Given the description of an element on the screen output the (x, y) to click on. 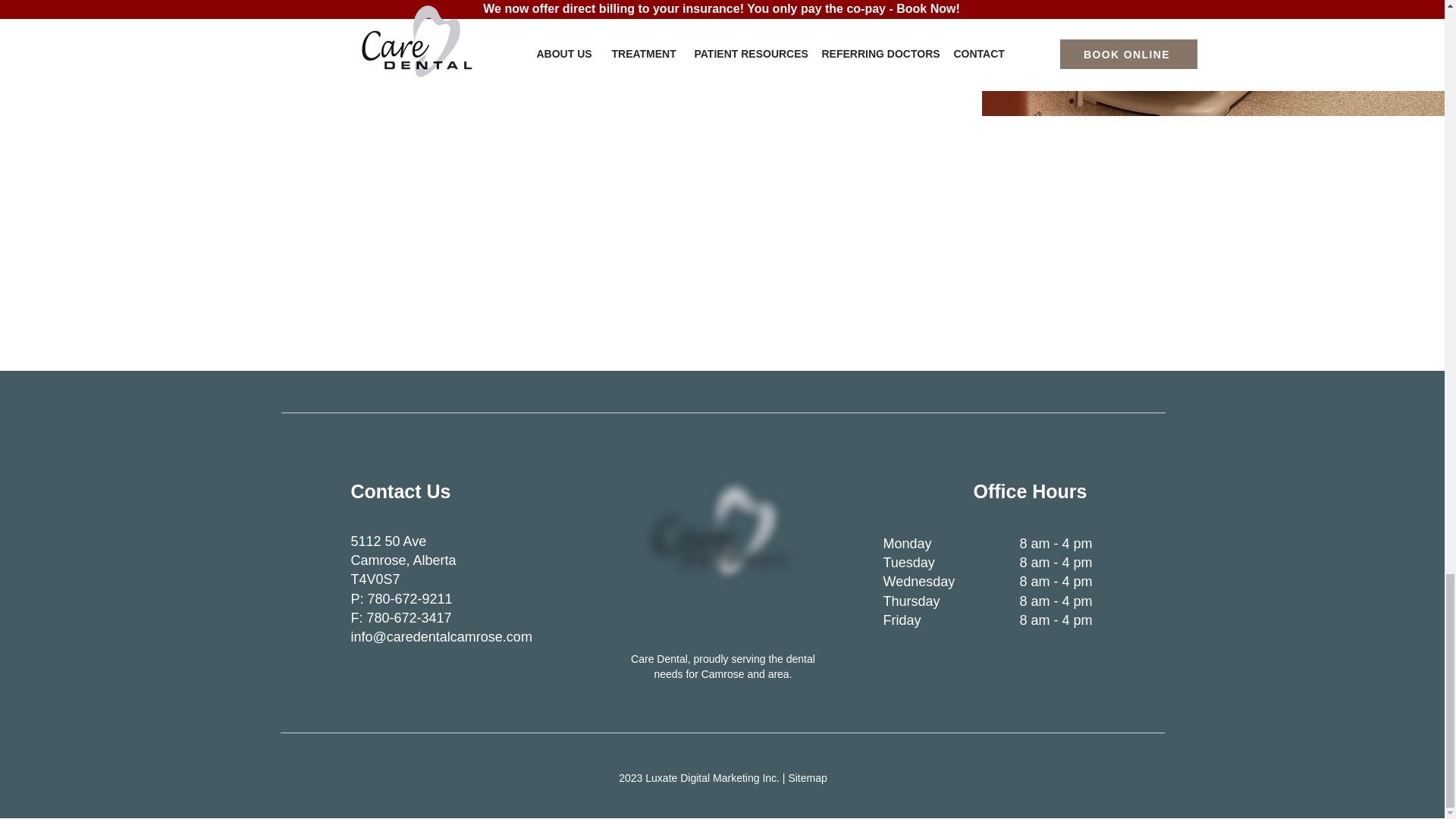
2023 Luxate Digital Marketing Inc. (698, 777)
Sitemap (807, 777)
